Given the description of an element on the screen output the (x, y) to click on. 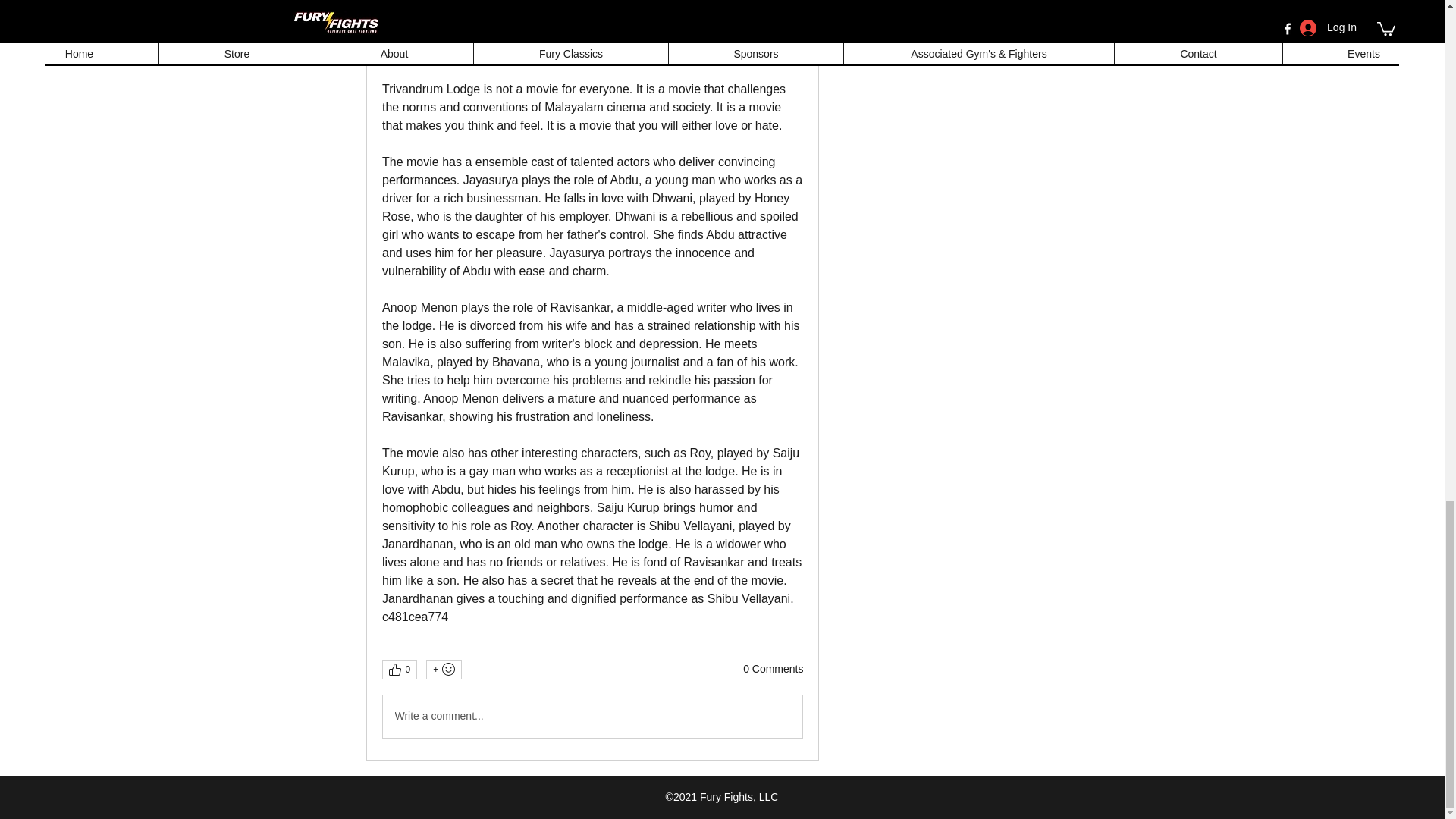
0 Comments (772, 669)
Write a comment... (591, 716)
